Given the description of an element on the screen output the (x, y) to click on. 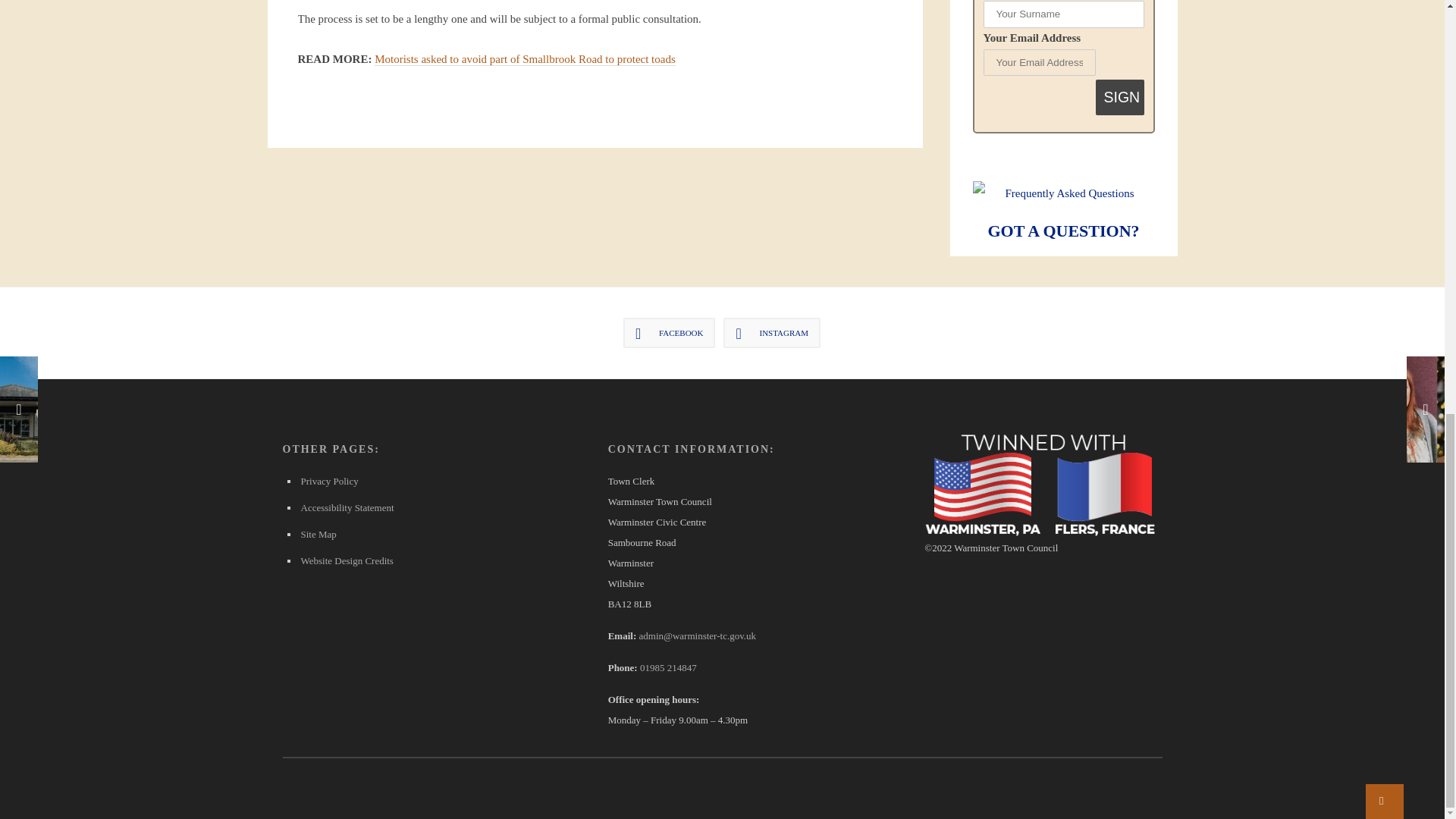
Facebook (668, 332)
SIGN UP (1120, 97)
Frequently Asked Questions (1063, 193)
Instagram (772, 332)
